Given the description of an element on the screen output the (x, y) to click on. 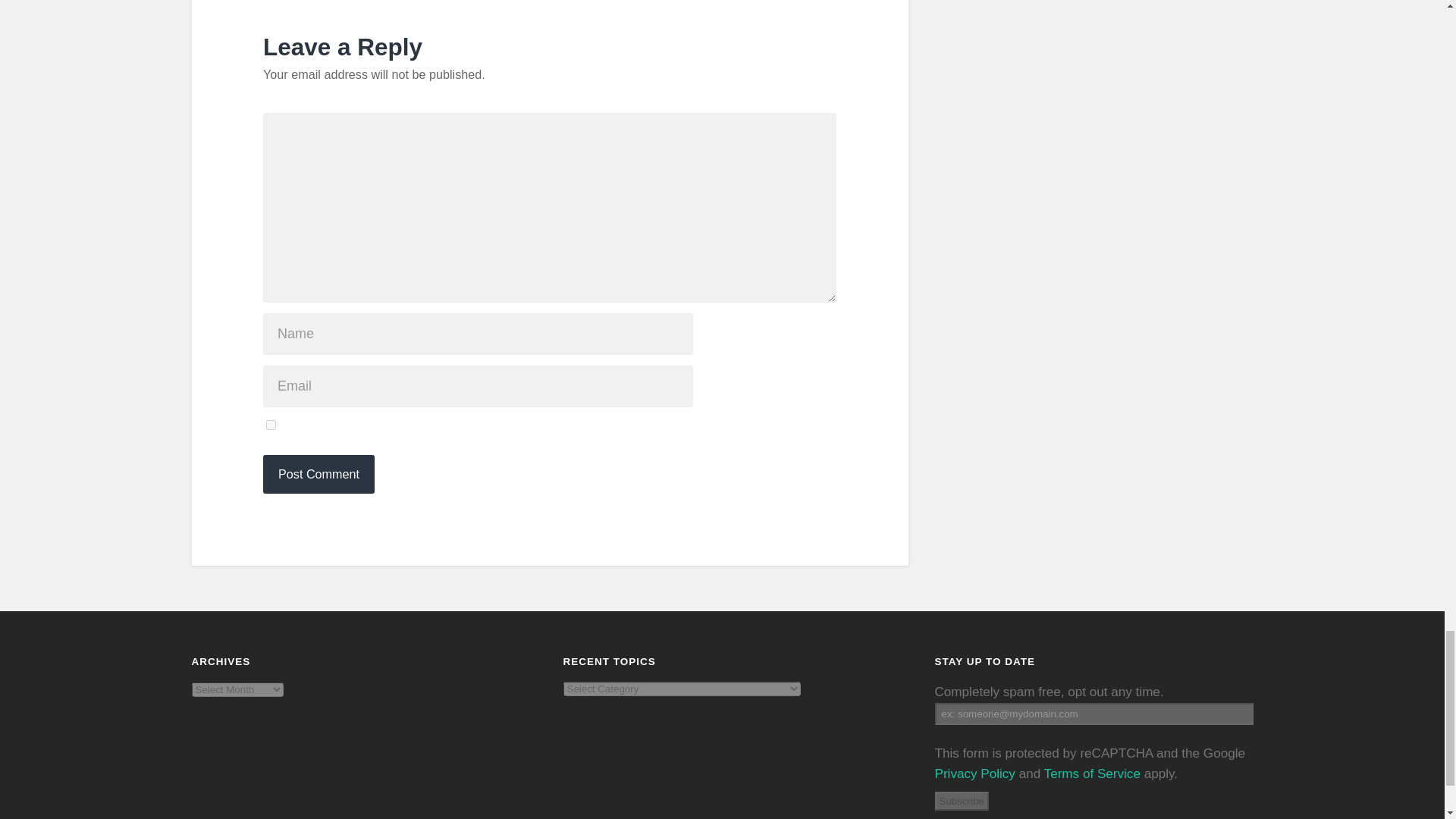
Privacy Policy (974, 773)
Subscribe (961, 800)
Subscribe (961, 800)
yes (271, 424)
Post Comment (318, 474)
Terms of Service (1091, 773)
Post Comment (318, 474)
